Given the description of an element on the screen output the (x, y) to click on. 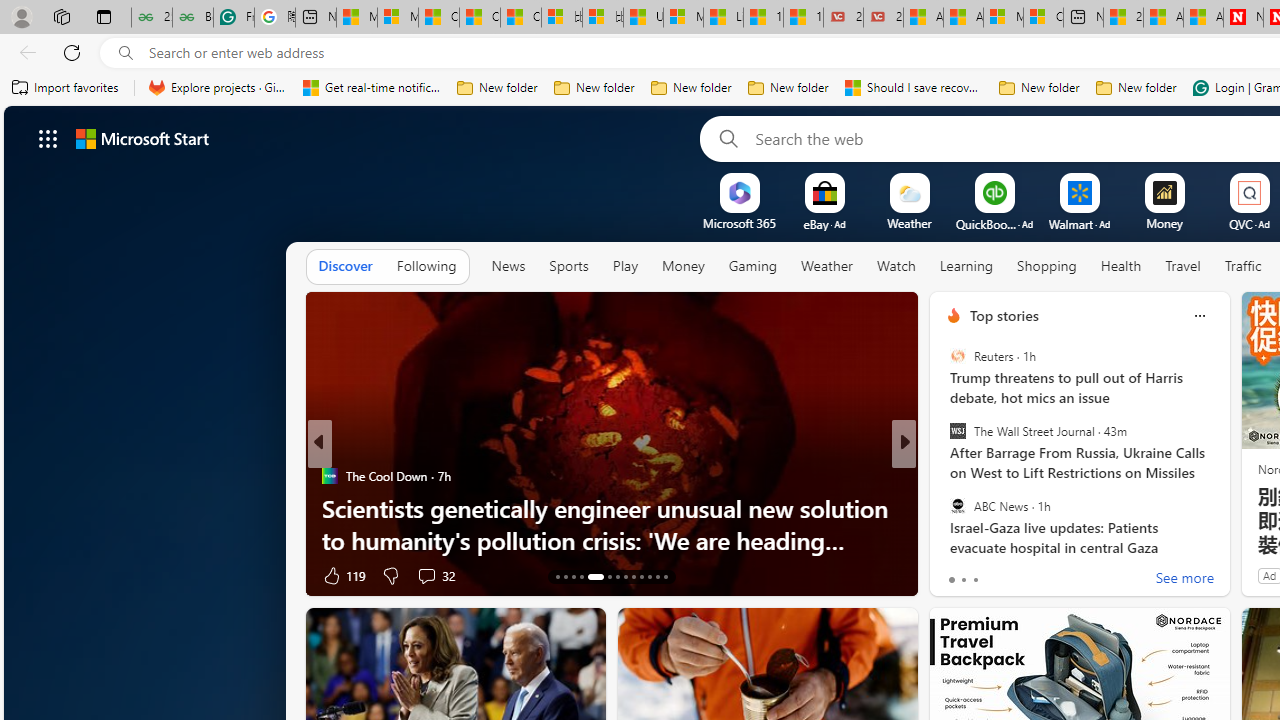
AutomationID: tab-24 (656, 576)
Cloud Computing Services | Microsoft Azure (1043, 17)
AutomationID: waffle (47, 138)
AutomationID: tab-15 (573, 576)
The Telegraph (944, 475)
